Given the description of an element on the screen output the (x, y) to click on. 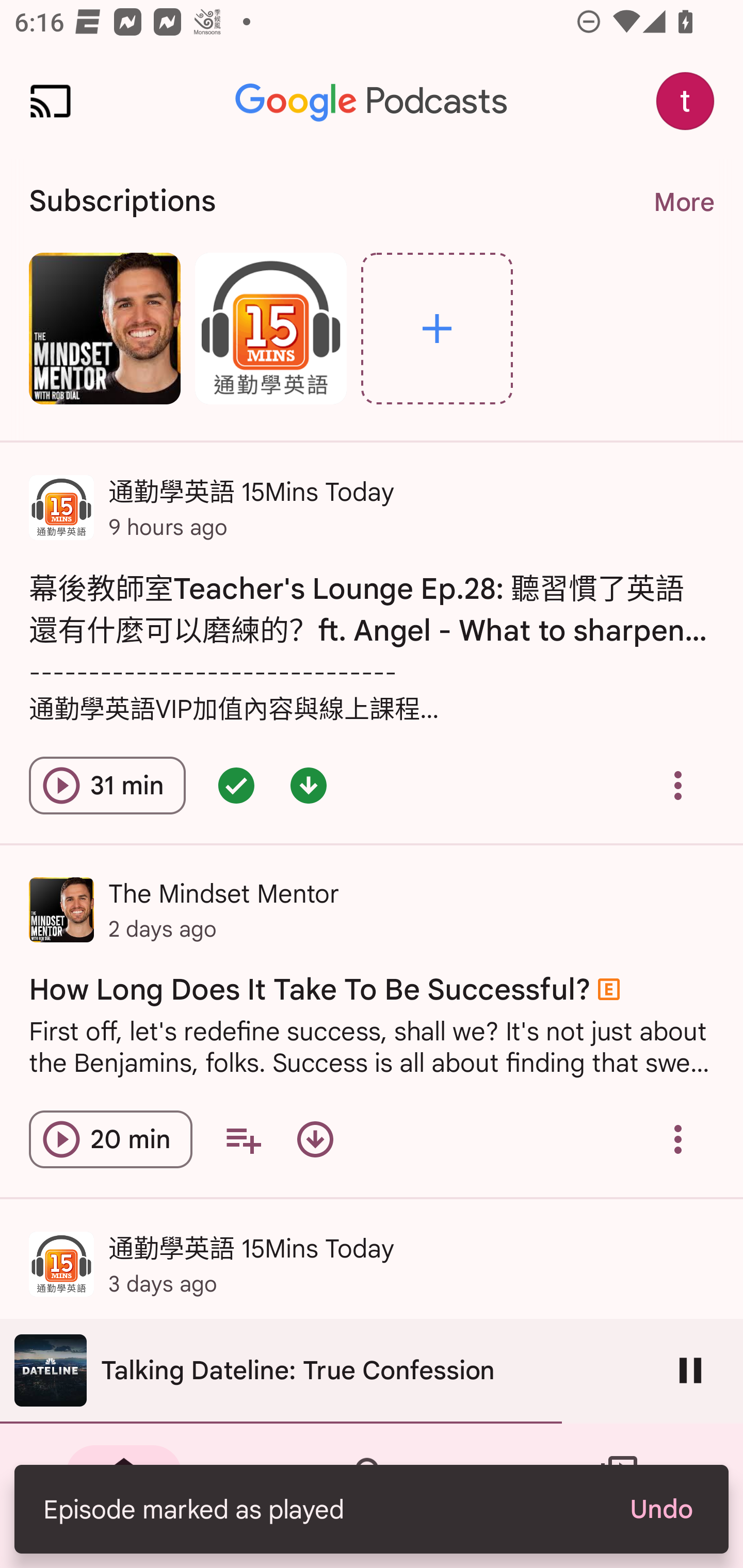
Cast. Disconnected (50, 101)
More More. Navigate to subscriptions page. (683, 202)
The Mindset Mentor (104, 328)
通勤學英語 15Mins Today (270, 328)
Explore (436, 328)
Episode queued - double tap for options (235, 785)
Episode downloaded - double tap for options (308, 785)
Overflow menu (677, 785)
Add to your queue (242, 1139)
Download episode (315, 1139)
Overflow menu (677, 1139)
Pause (690, 1370)
Undo (660, 1509)
